Given the description of an element on the screen output the (x, y) to click on. 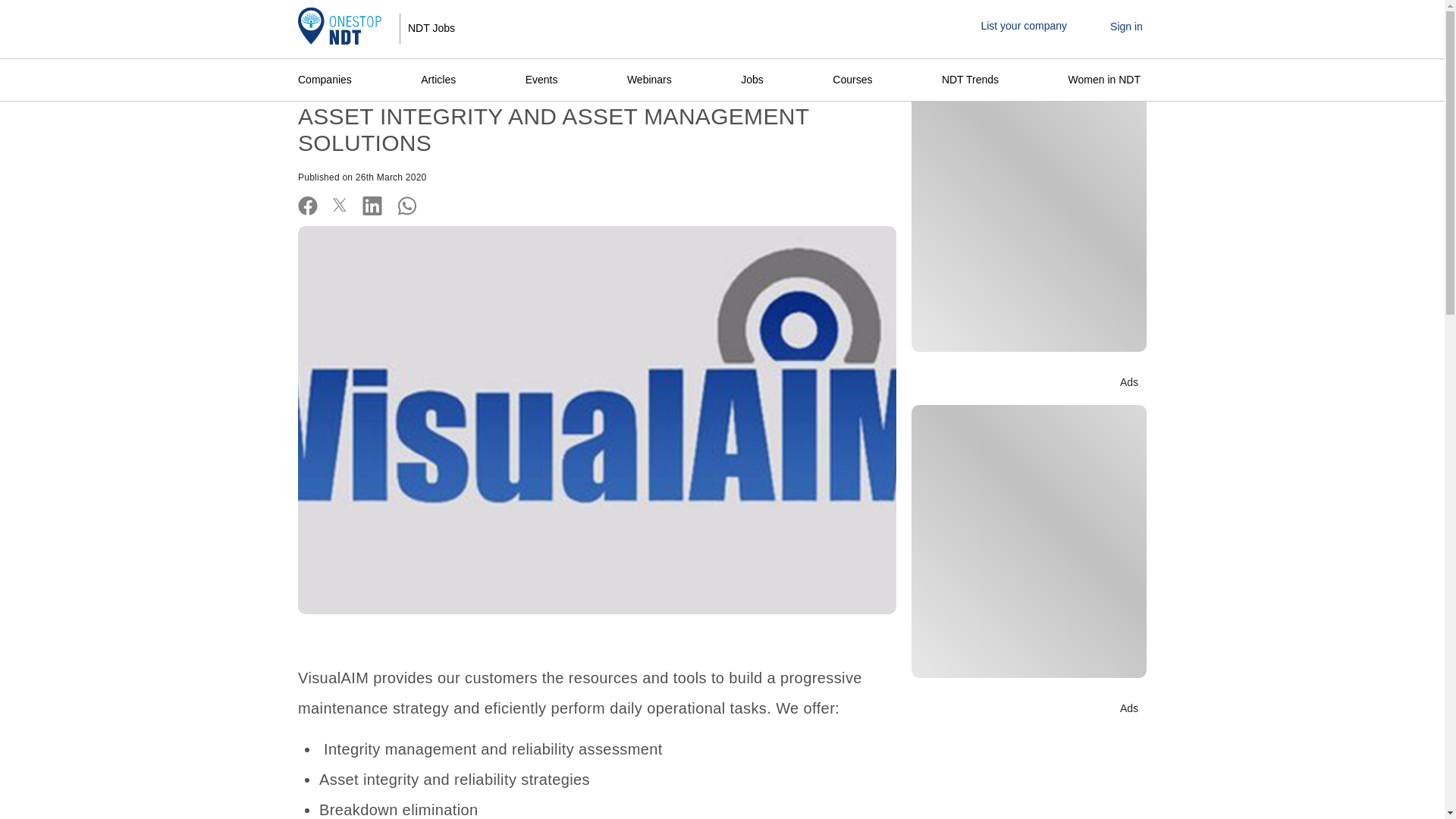
Women in NDT (1104, 79)
Events (541, 79)
NDT Trends (970, 79)
Back to Application Notes (722, 56)
Courses (852, 79)
List your company (1023, 25)
Companies (328, 79)
Webinars (649, 79)
Jobs (752, 79)
Articles (437, 79)
